Given the description of an element on the screen output the (x, y) to click on. 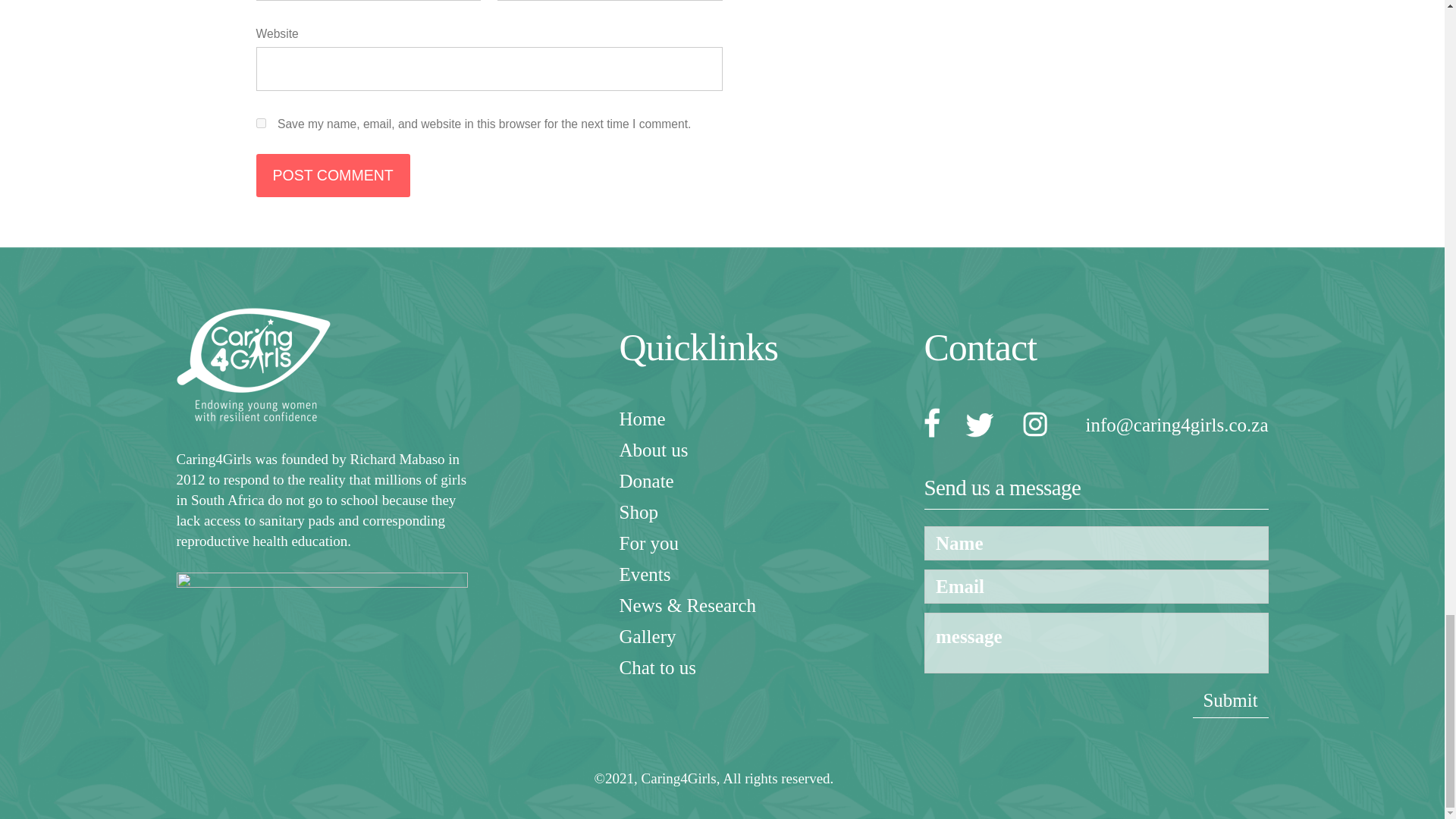
Post Comment (333, 175)
yes (261, 122)
Submit (1230, 700)
